Given the description of an element on the screen output the (x, y) to click on. 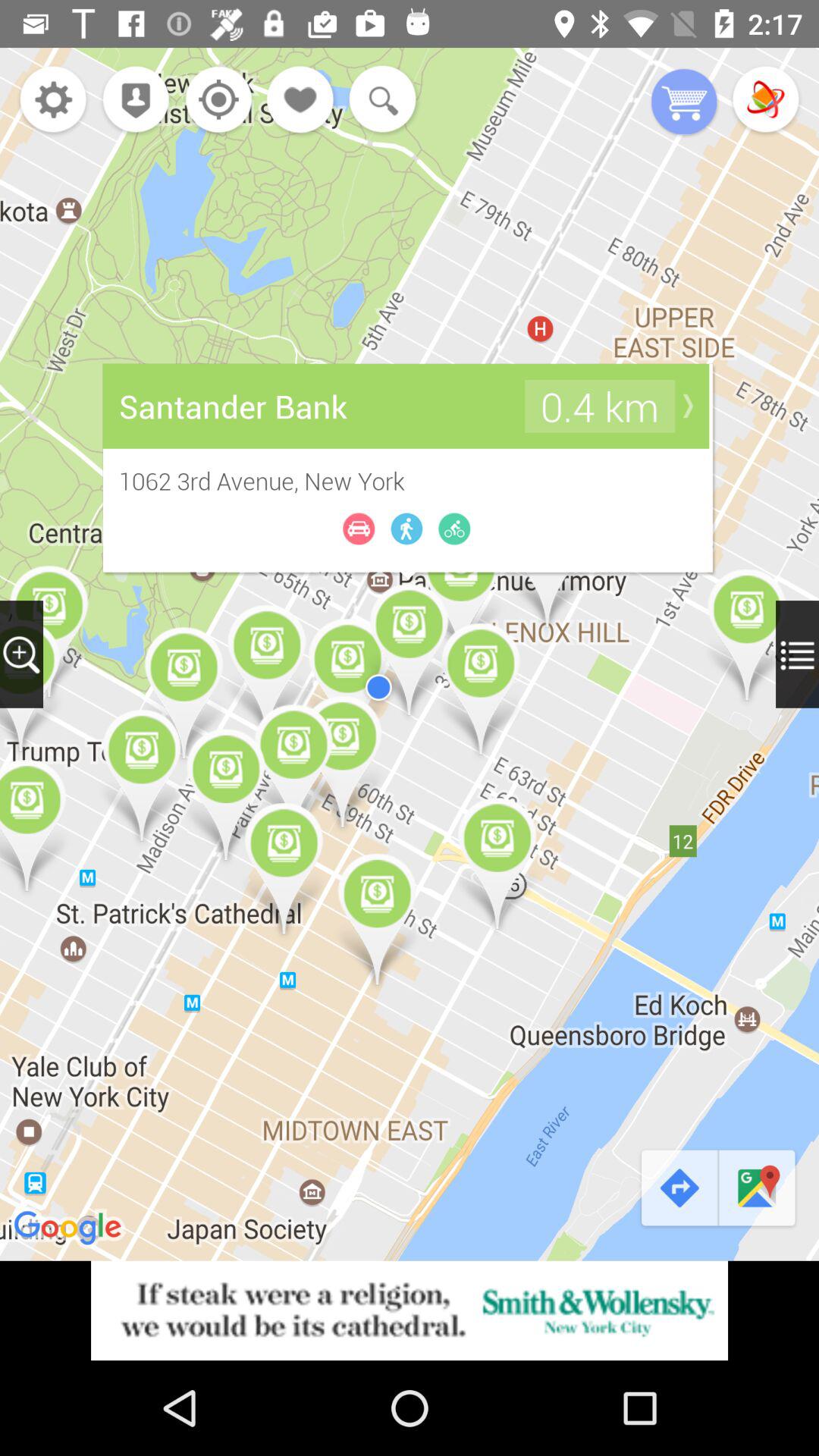
3d toggle (765, 100)
